Given the description of an element on the screen output the (x, y) to click on. 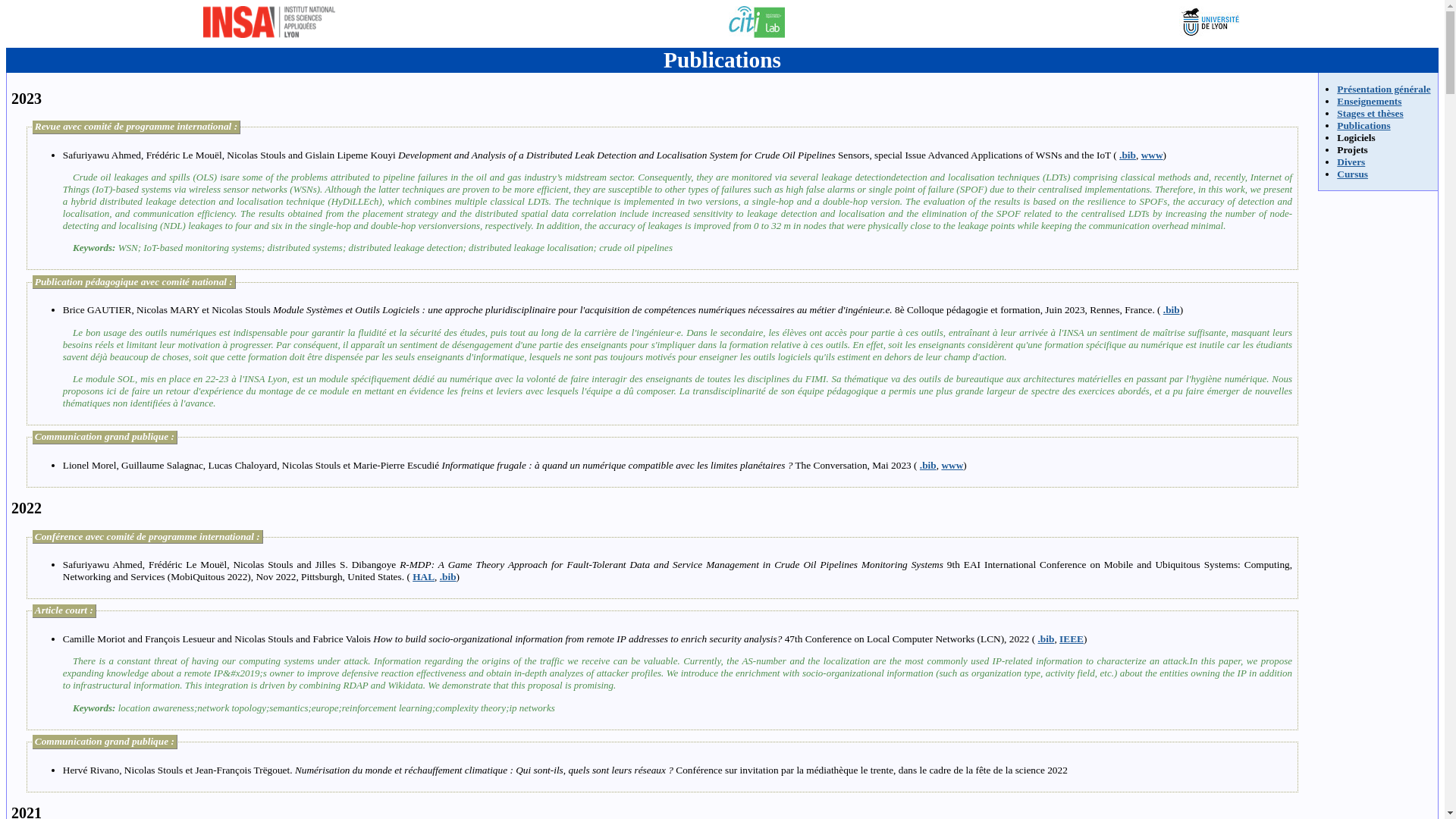
.bib (448, 576)
Publications (1363, 125)
.bib (1171, 309)
Divers (1350, 161)
.bib (1127, 154)
HAL (422, 576)
Cursus (1352, 173)
.bib (1046, 638)
Enseignements (1368, 101)
.bib (928, 464)
www (951, 464)
IEEE (1071, 638)
www (1152, 154)
